Given the description of an element on the screen output the (x, y) to click on. 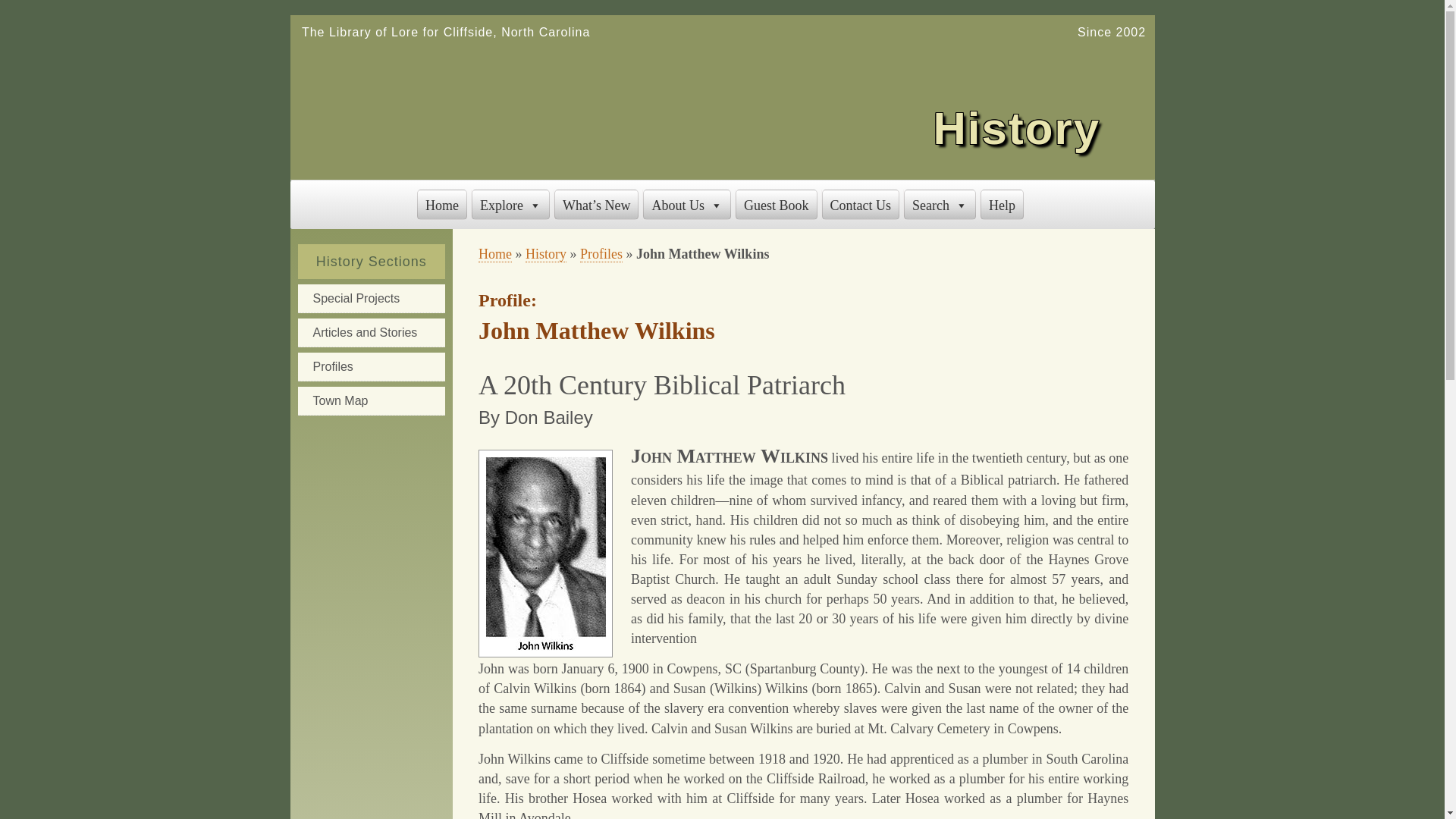
Search (939, 204)
Town Map (370, 400)
About Us (686, 204)
Special Projects (370, 298)
Profiles (601, 254)
Home (441, 204)
Profiles (370, 366)
Guest Book (775, 204)
Skip to main content (63, 17)
Contact Us (860, 204)
